Given the description of an element on the screen output the (x, y) to click on. 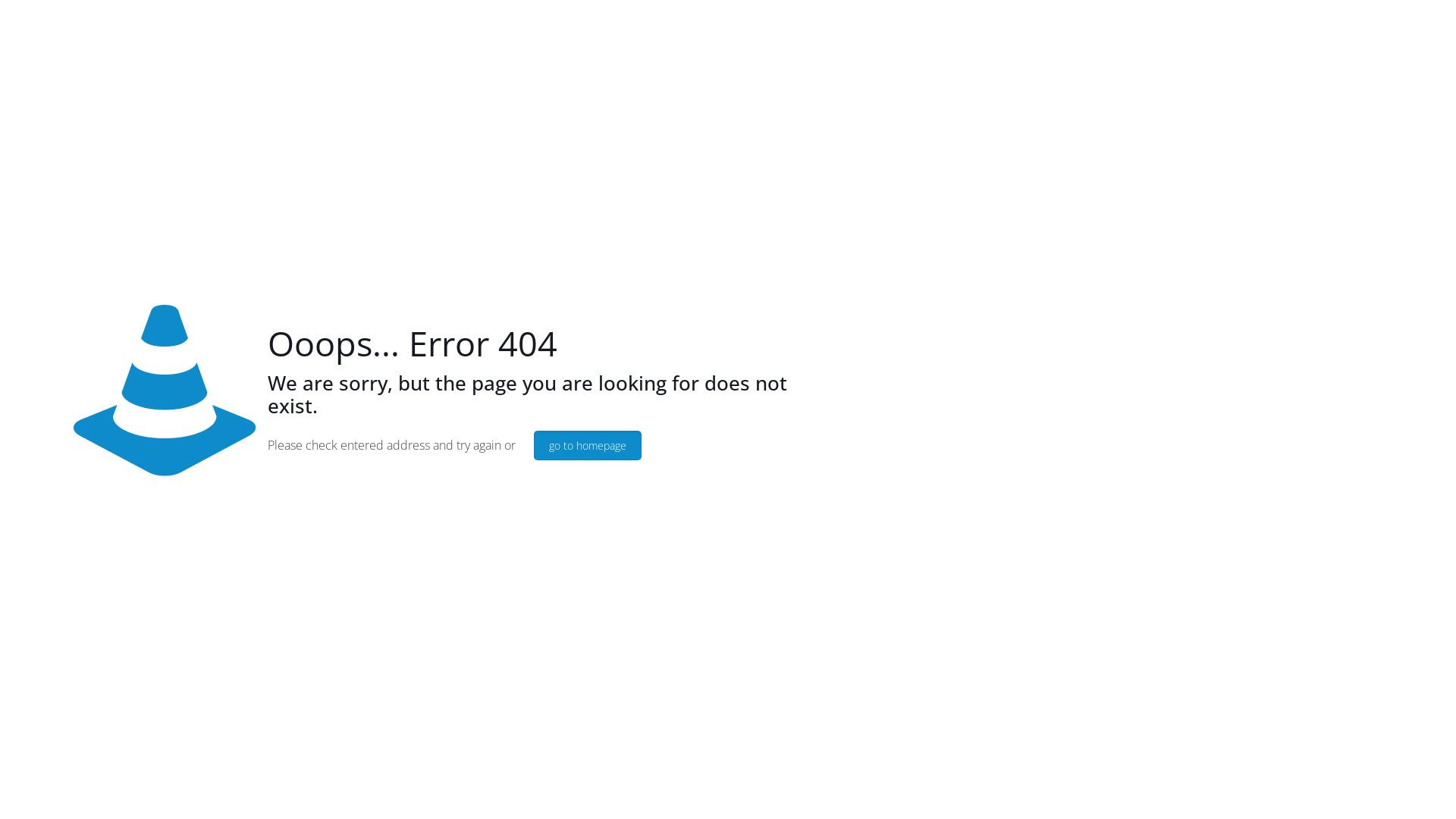
go to homepage Element type: text (587, 445)
